Given the description of an element on the screen output the (x, y) to click on. 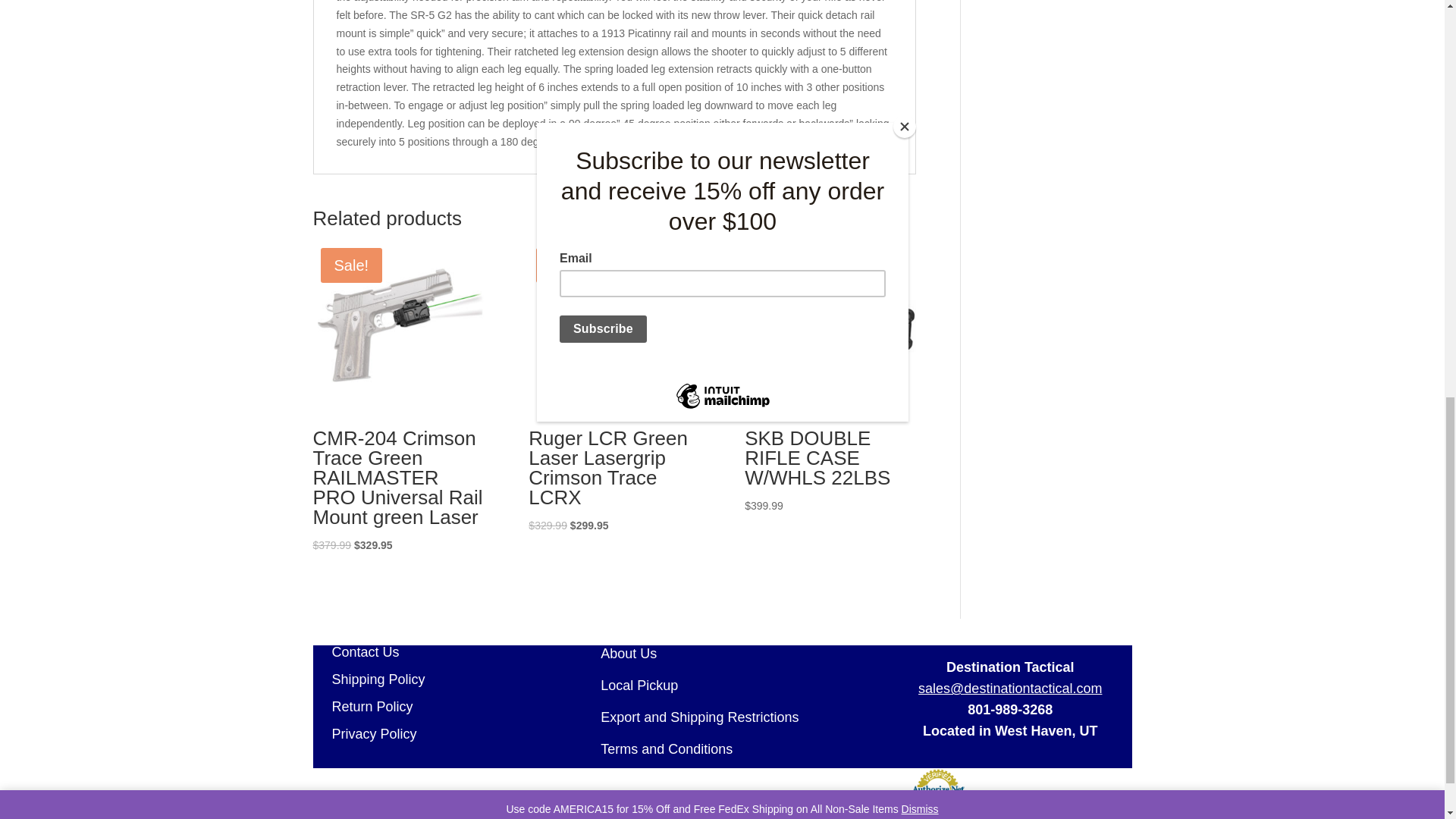
Contact Us (355, 652)
Shipping Policy (369, 679)
Return Policy (362, 706)
